Given the description of an element on the screen output the (x, y) to click on. 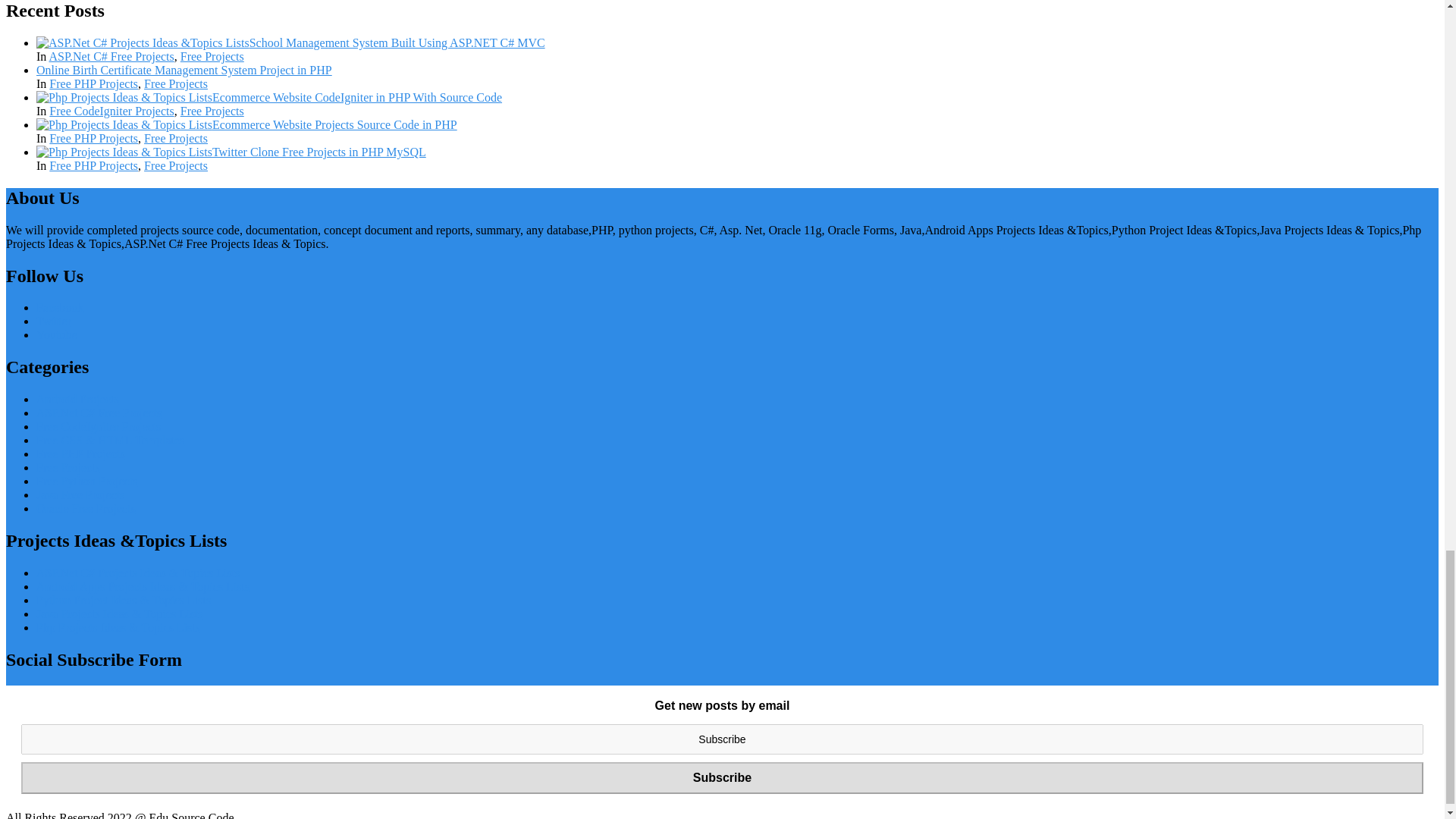
Subscribe (722, 777)
